Given the description of an element on the screen output the (x, y) to click on. 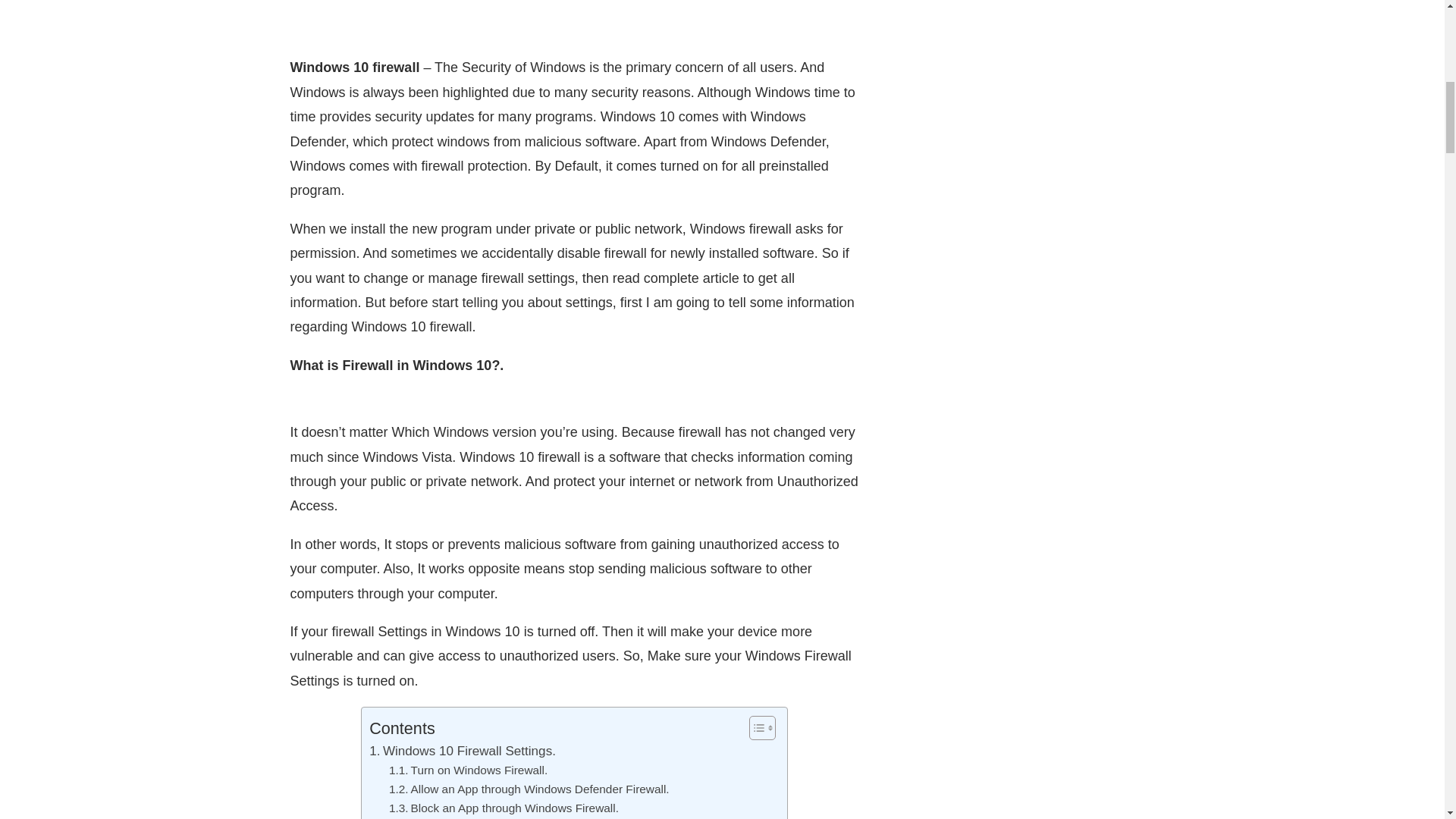
Allow an App through Windows Defender Firewall. (528, 789)
Allow an App through Windows Defender Firewall. (528, 789)
Advertisement (574, 20)
Block an App through Windows Firewall. (503, 808)
Turn on Windows Firewall. (467, 770)
Block an App through Windows Firewall. (503, 808)
Windows 10 Firewall Settings. (462, 751)
Windows 10 Firewall Settings. (462, 751)
Turn on Windows Firewall. (467, 770)
